Given the description of an element on the screen output the (x, y) to click on. 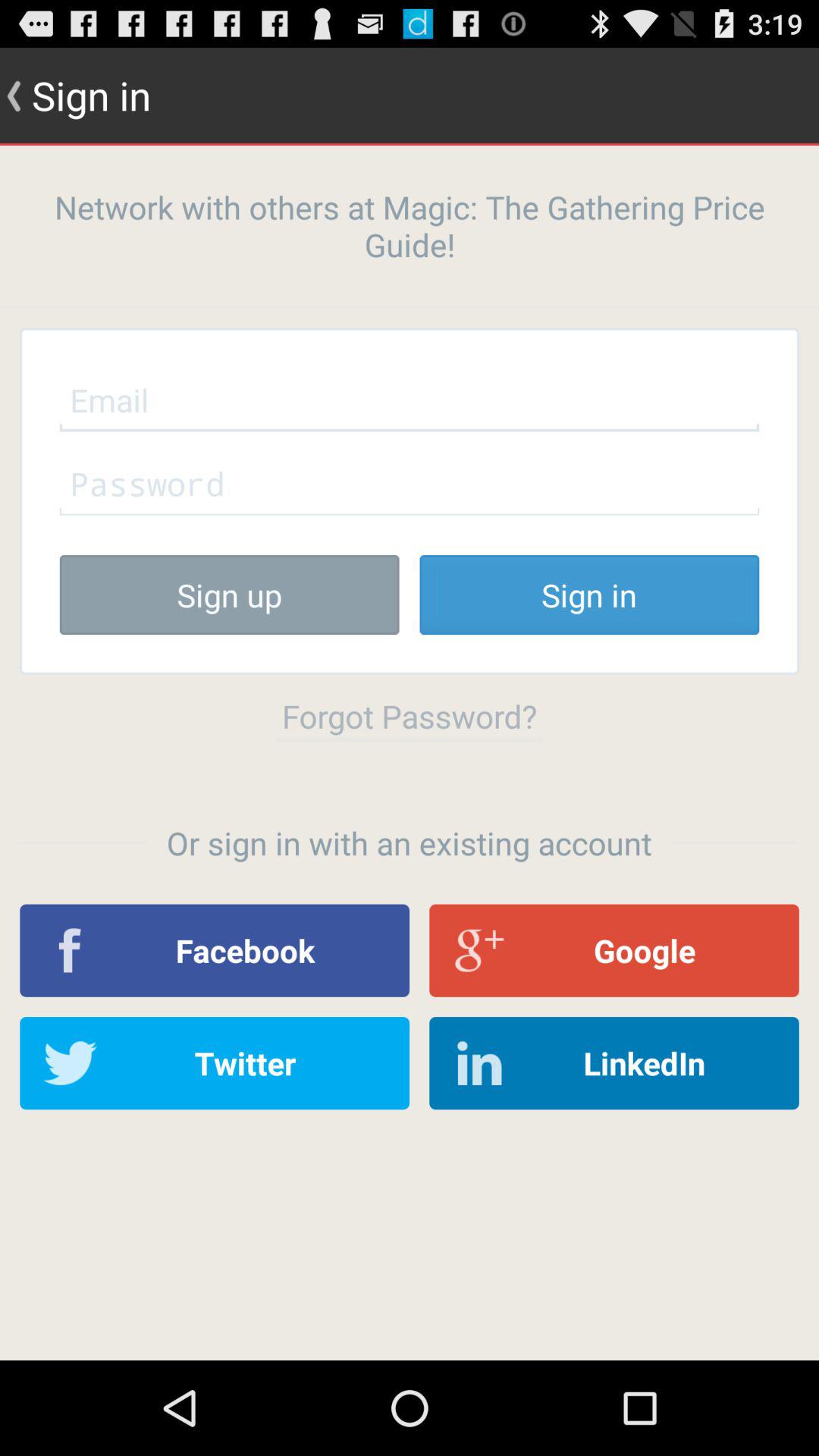
enter the password input (409, 483)
